Given the description of an element on the screen output the (x, y) to click on. 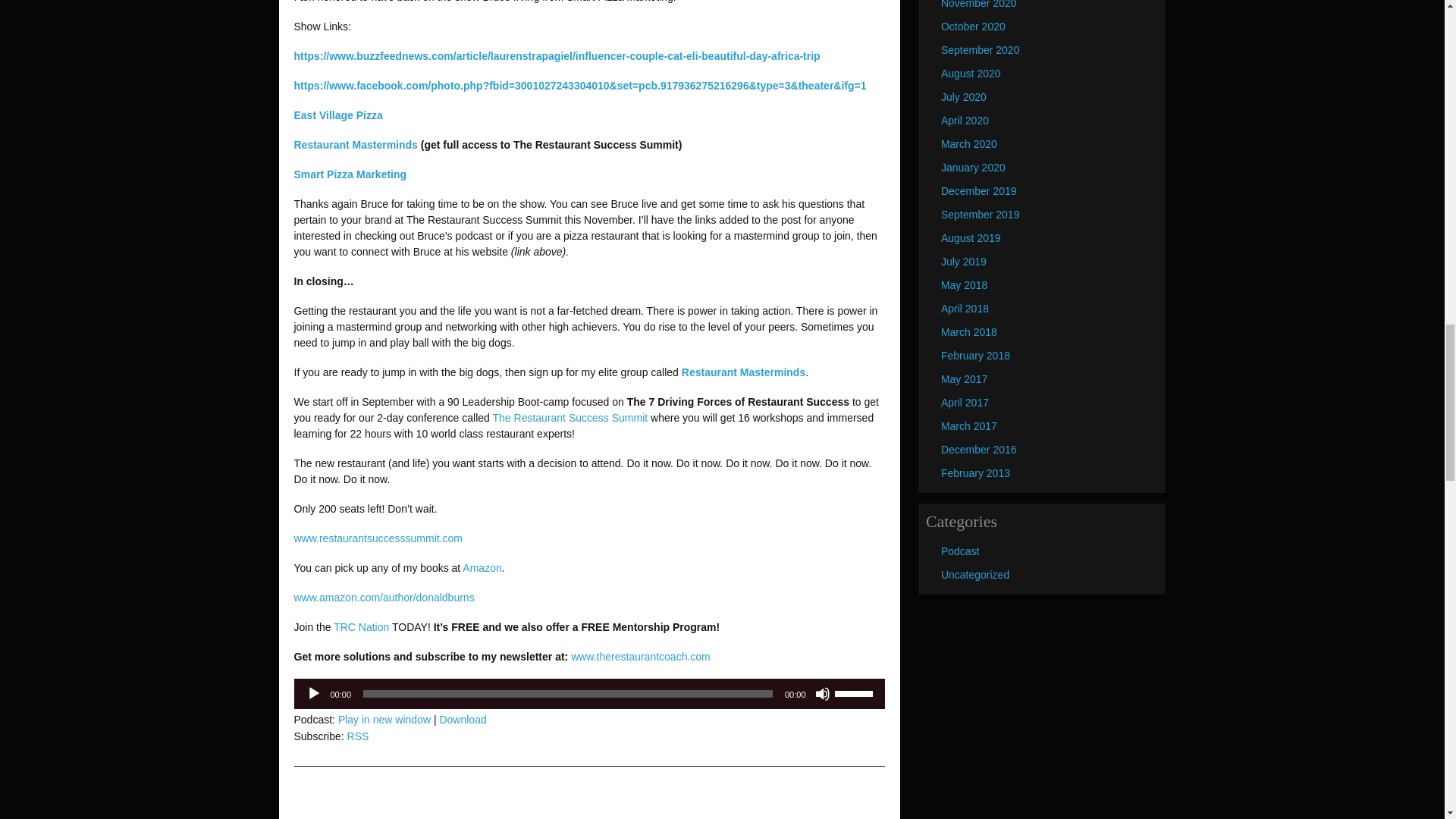
Download (462, 719)
Subscribe via RSS (358, 736)
Play in new window (383, 719)
Play (313, 693)
Mute (821, 693)
